Given the description of an element on the screen output the (x, y) to click on. 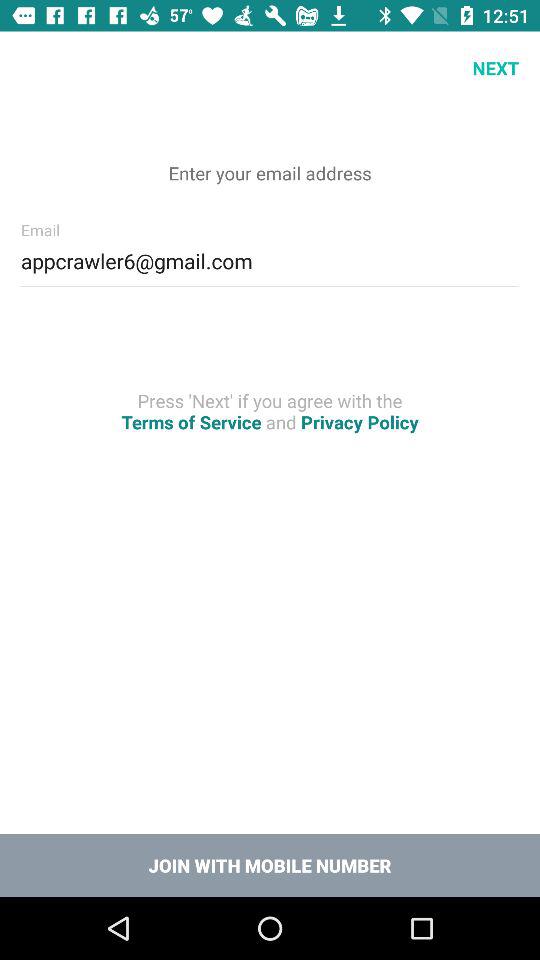
scroll to the press next if (270, 411)
